Given the description of an element on the screen output the (x, y) to click on. 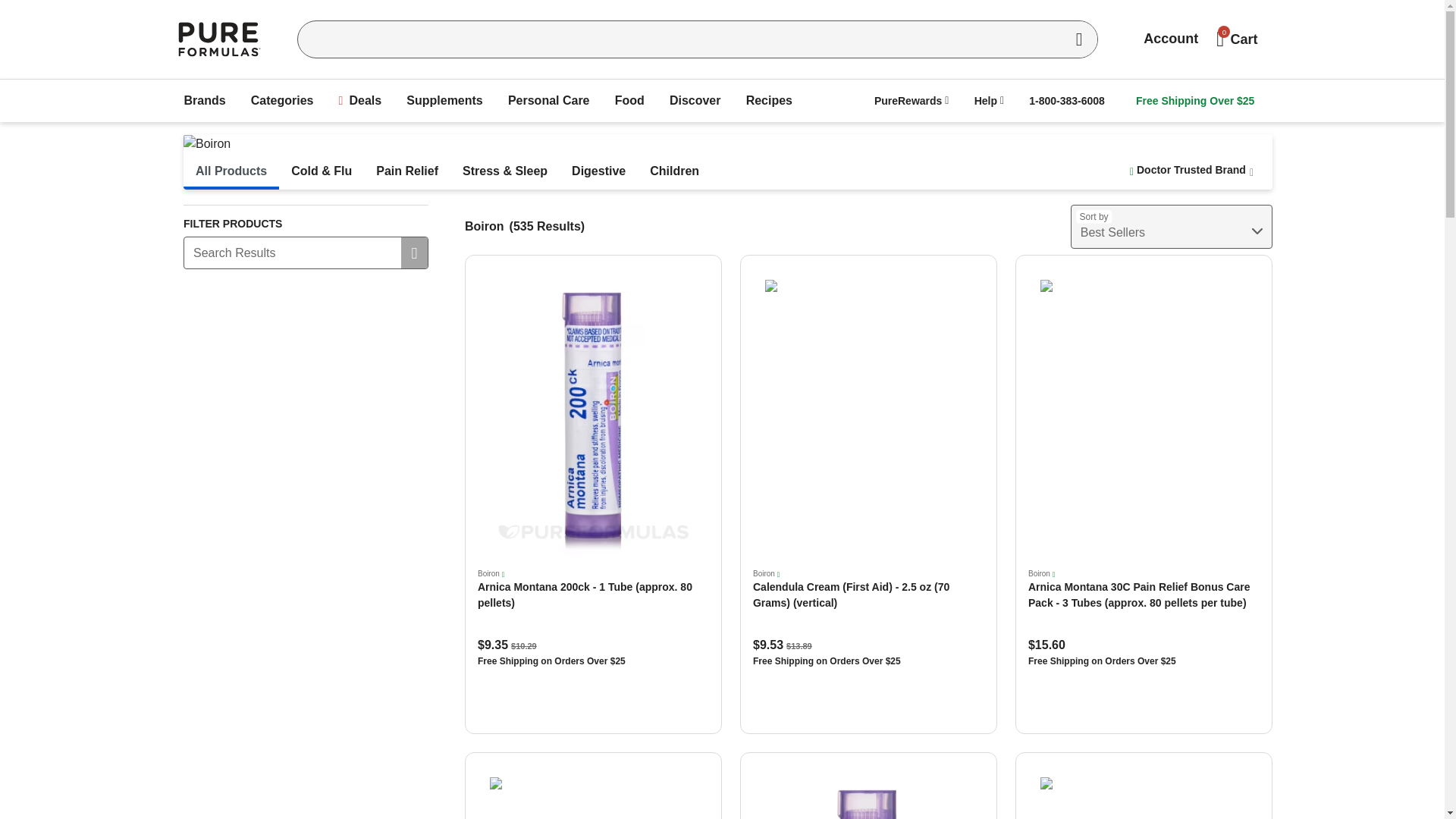
Account (1170, 38)
Supplements (443, 100)
Deals (360, 100)
Food (629, 100)
Discover (694, 100)
Children (674, 171)
Brands (204, 100)
Pain Relief (406, 171)
Digestive (598, 171)
PureRewards (911, 100)
